Given the description of an element on the screen output the (x, y) to click on. 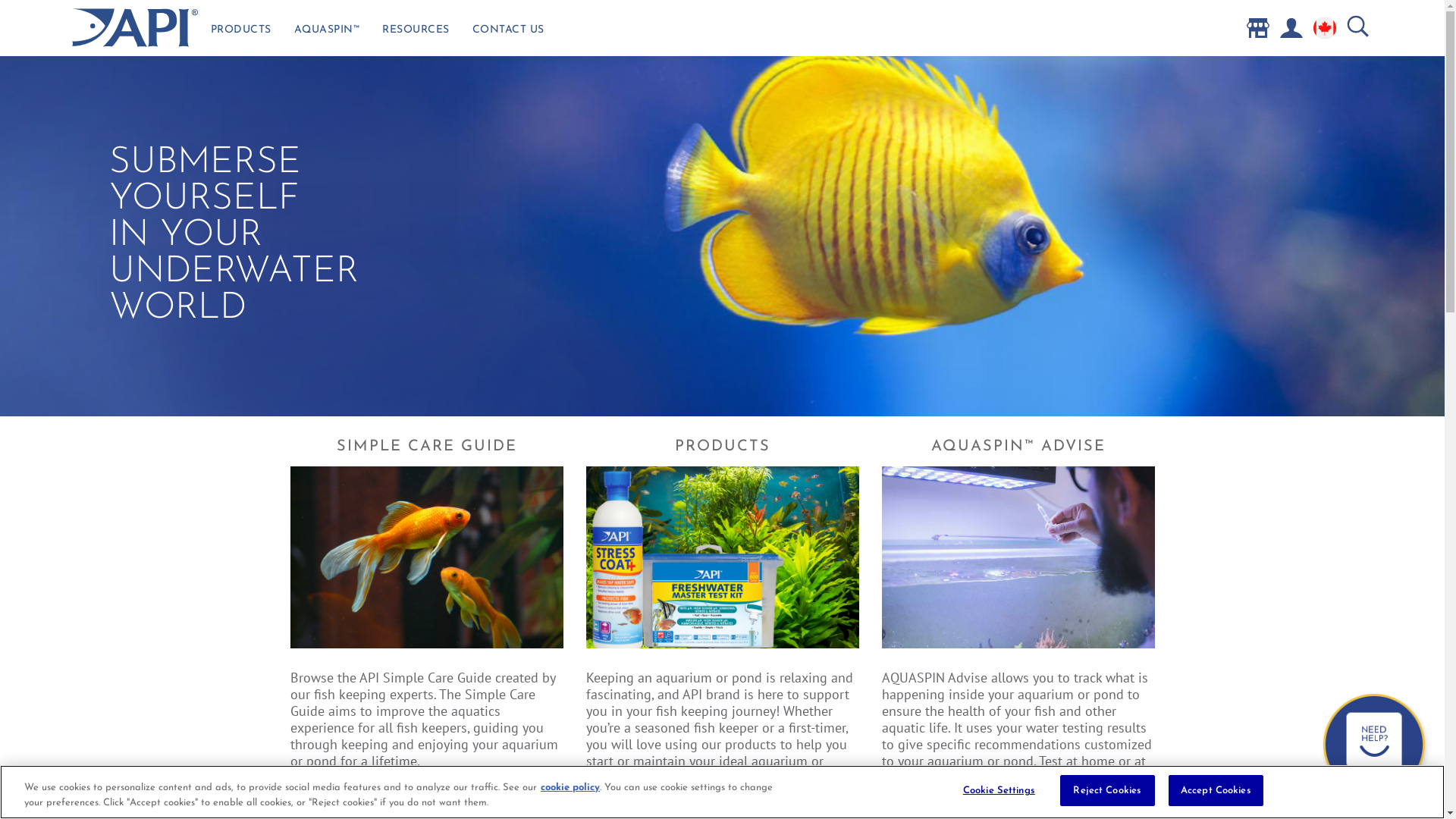
cookie policy
(opens in a new tab) Element type: text (569, 787)
CONTACT US Element type: text (508, 33)
Accept Cookies Element type: text (1215, 790)
PRODUCTS Element type: text (240, 33)
Cookie Settings Element type: text (998, 790)
RESOURCES Element type: text (415, 33)
Reject Cookies Element type: text (1107, 790)
